Given the description of an element on the screen output the (x, y) to click on. 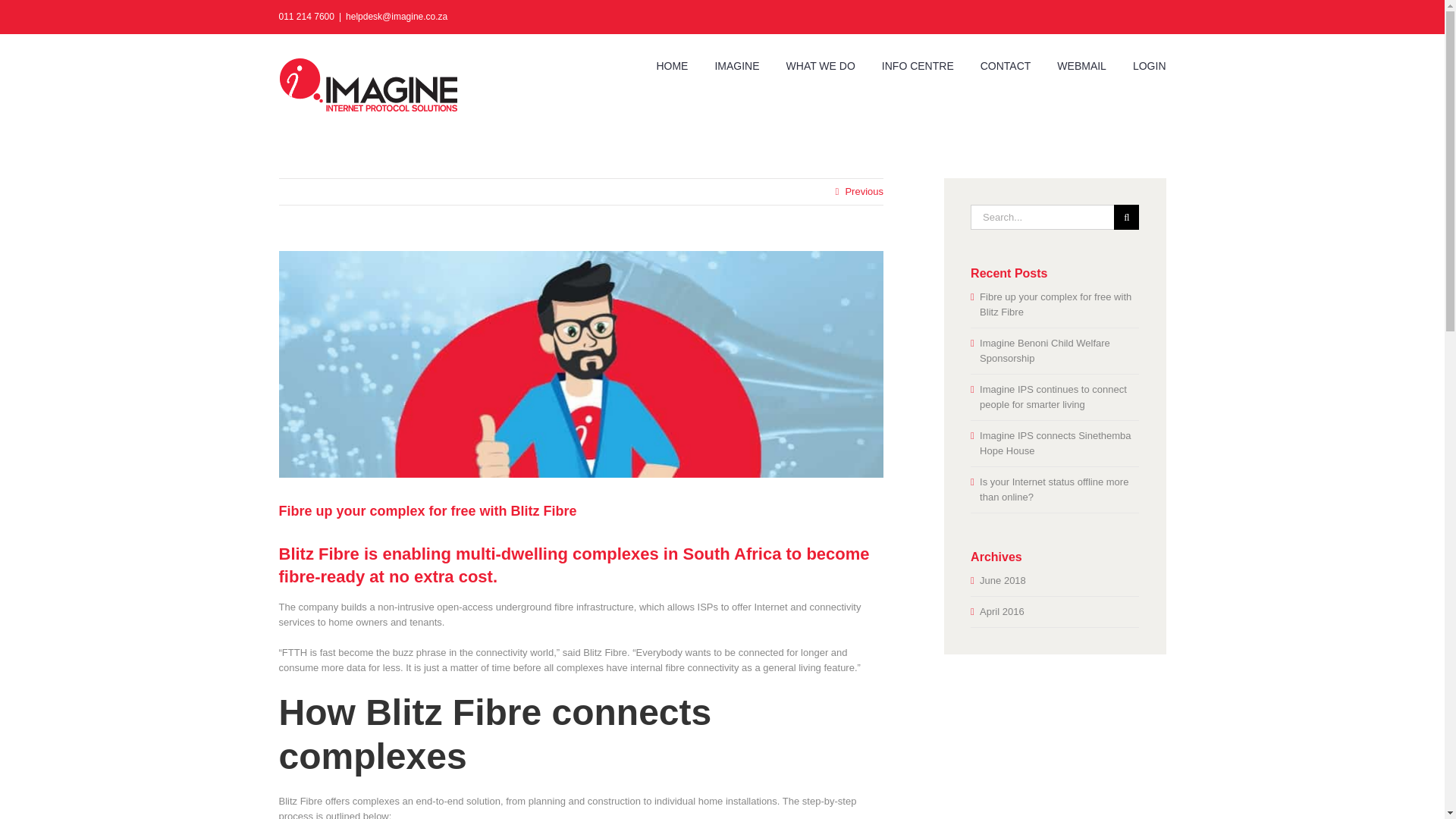
WHAT WE DO (821, 65)
April 2016 (1002, 611)
WEBMAIL (1081, 65)
Previous (863, 191)
Imagine IPS continues to connect people for smarter living (1052, 397)
011 214 7600 (306, 16)
HOME (671, 65)
LOGIN (1149, 65)
Imagine IPS connects Sinethemba Hope House (1055, 442)
Is your Internet status offline more than online? (1053, 488)
INFO CENTRE (917, 65)
Imagine Benoni Child Welfare Sponsorship (1044, 350)
IMAGINE (736, 65)
Fibre up your complex for free with Blitz Fibre (1055, 304)
